Given the description of an element on the screen output the (x, y) to click on. 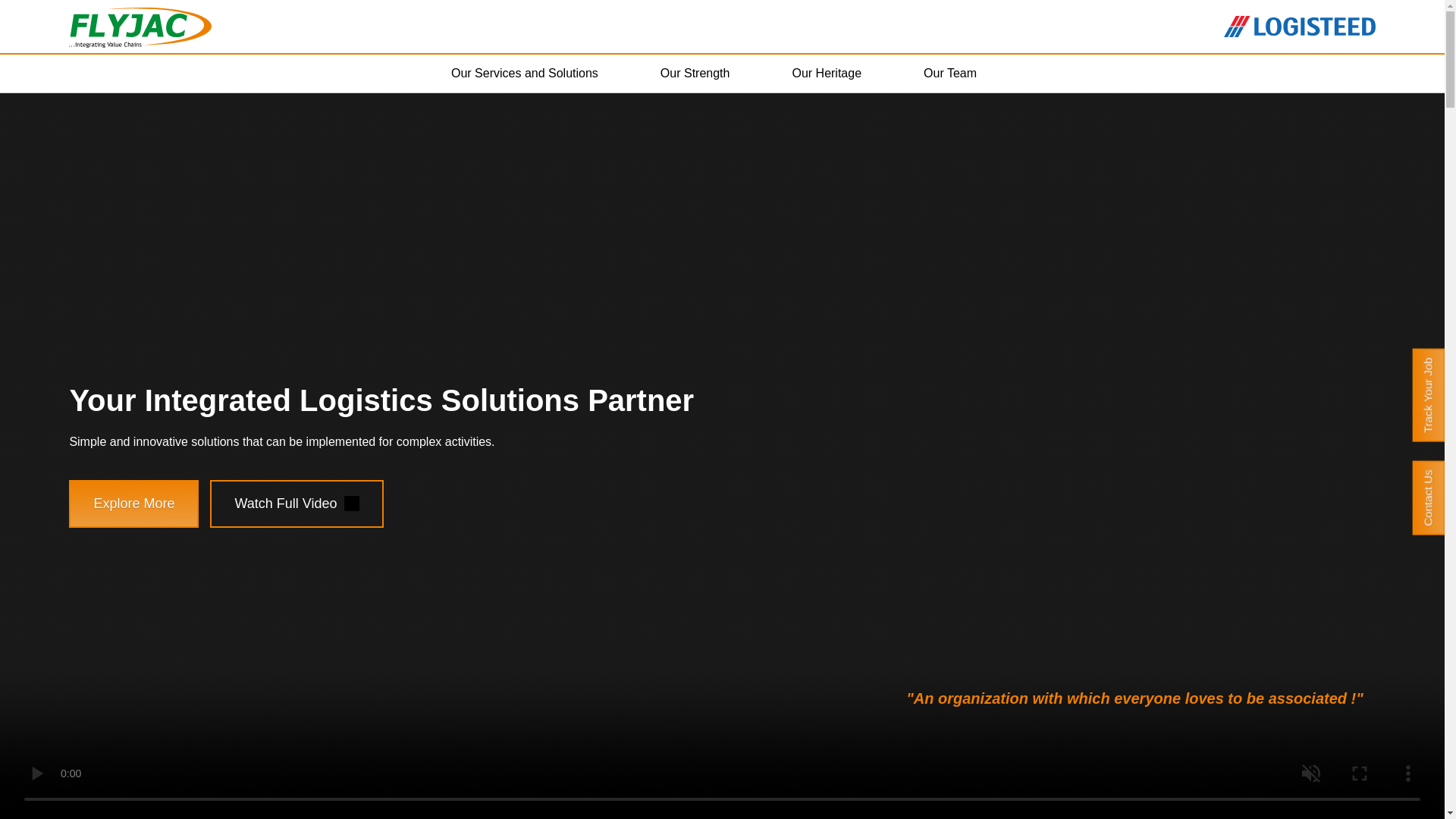
Our Team (958, 73)
Our Strength (703, 73)
Our Services and Solutions (532, 73)
Our Heritage (834, 73)
